Given the description of an element on the screen output the (x, y) to click on. 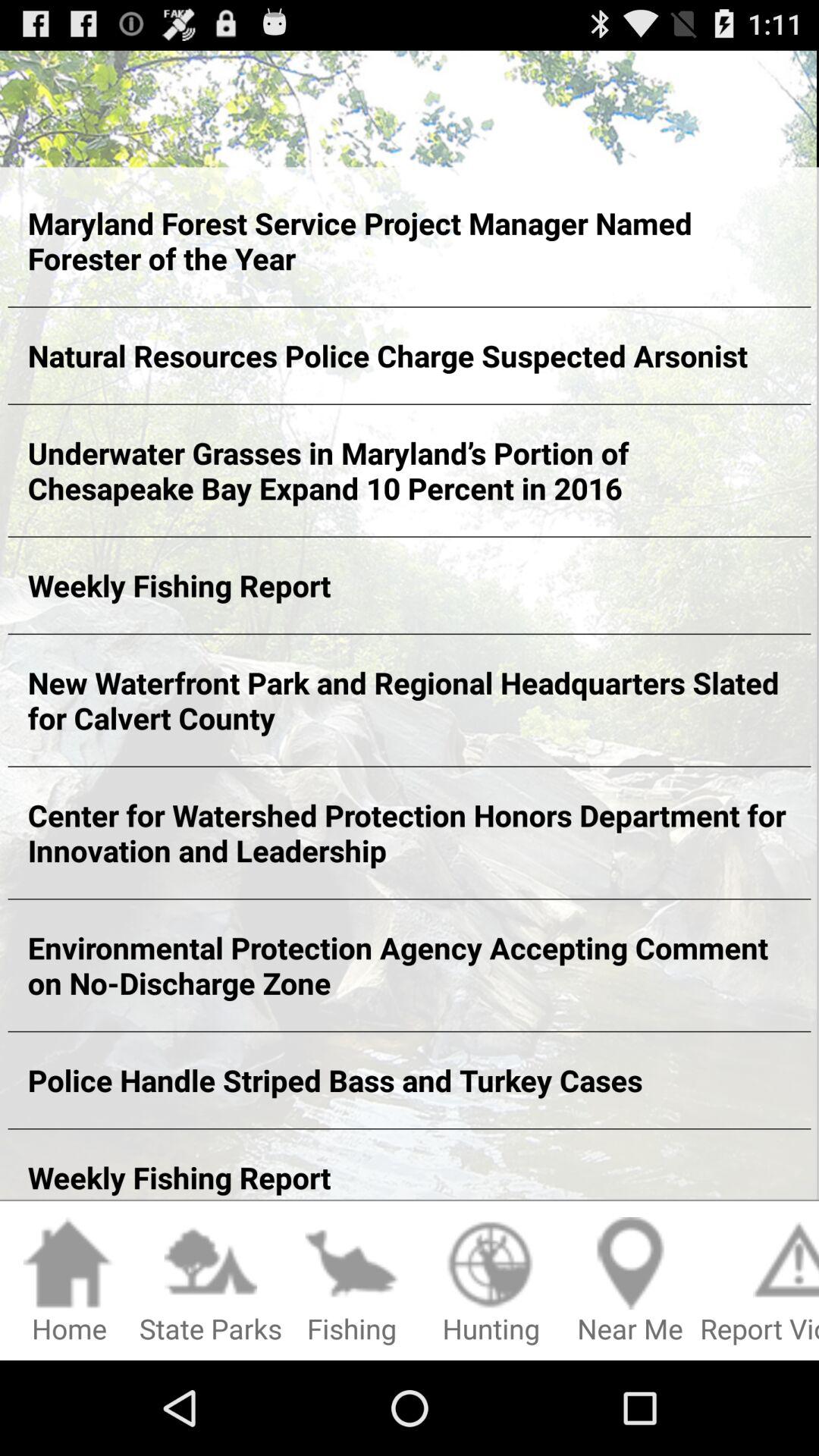
select item next to the near me (490, 1282)
